Given the description of an element on the screen output the (x, y) to click on. 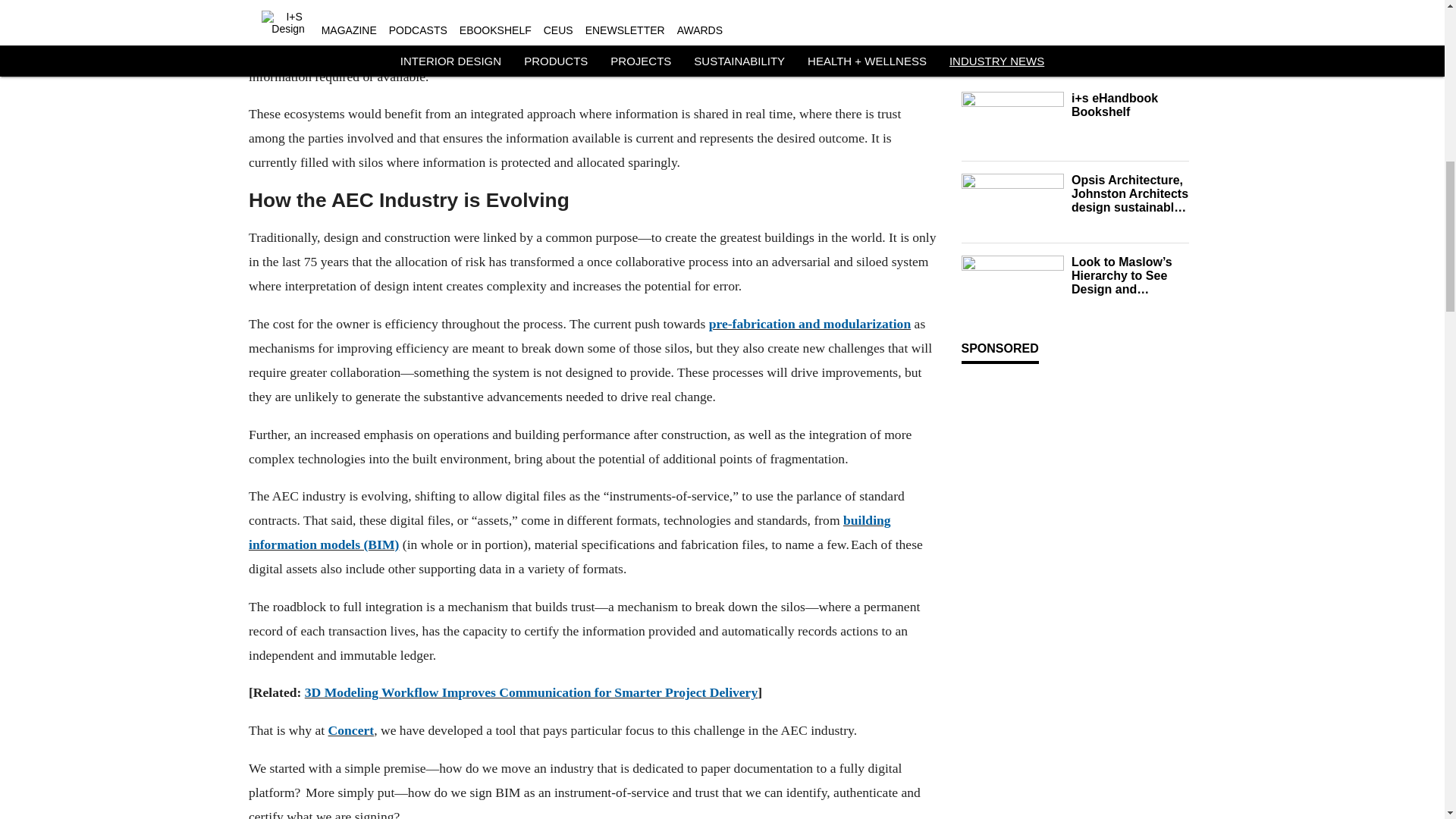
Concert (350, 729)
pre-fabrication and modularization (809, 323)
